Given the description of an element on the screen output the (x, y) to click on. 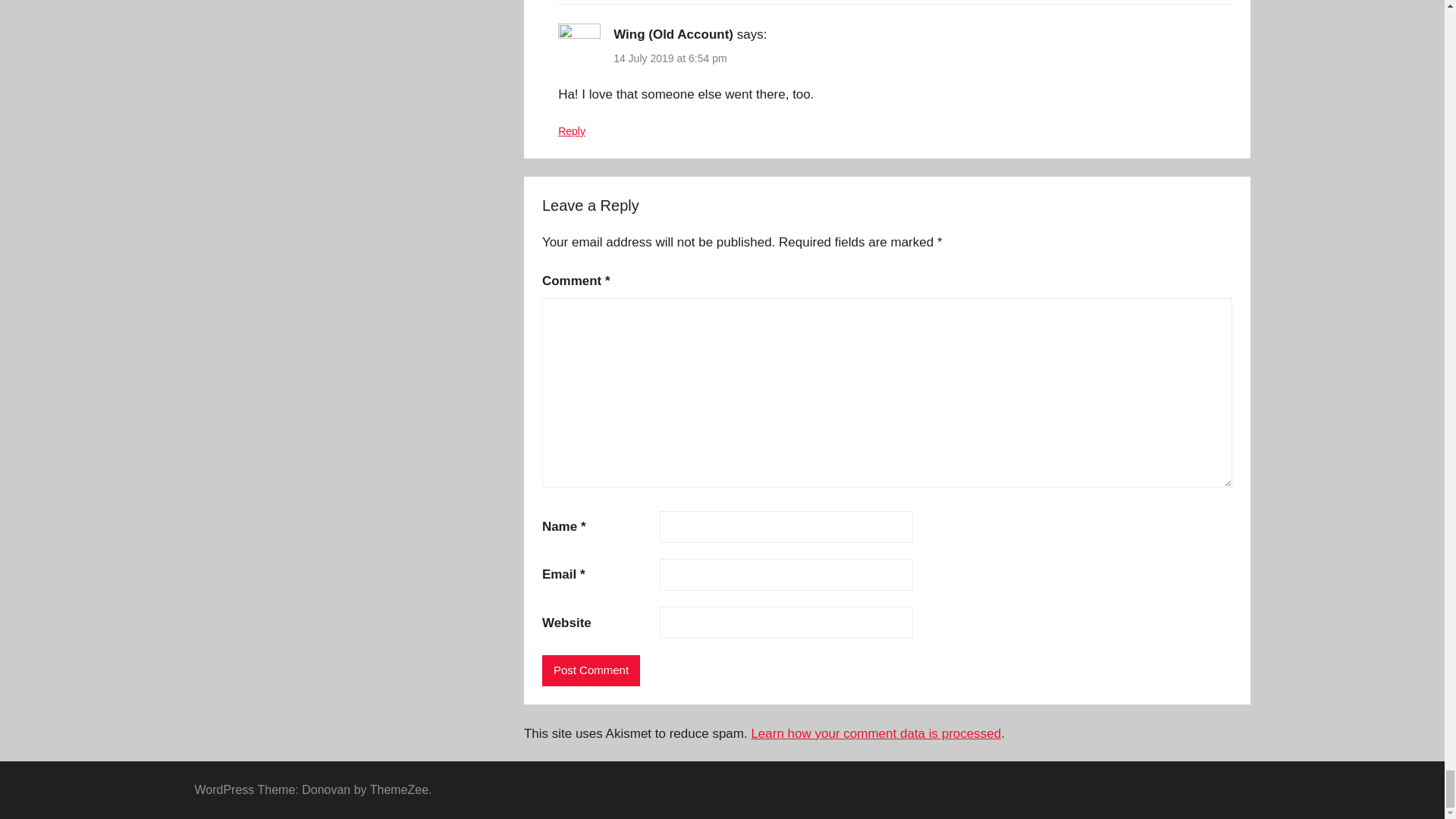
14 July 2019 at 6:54 pm (669, 58)
Learn how your comment data is processed (876, 733)
Reply (571, 131)
Post Comment (590, 670)
Post Comment (590, 670)
